Given the description of an element on the screen output the (x, y) to click on. 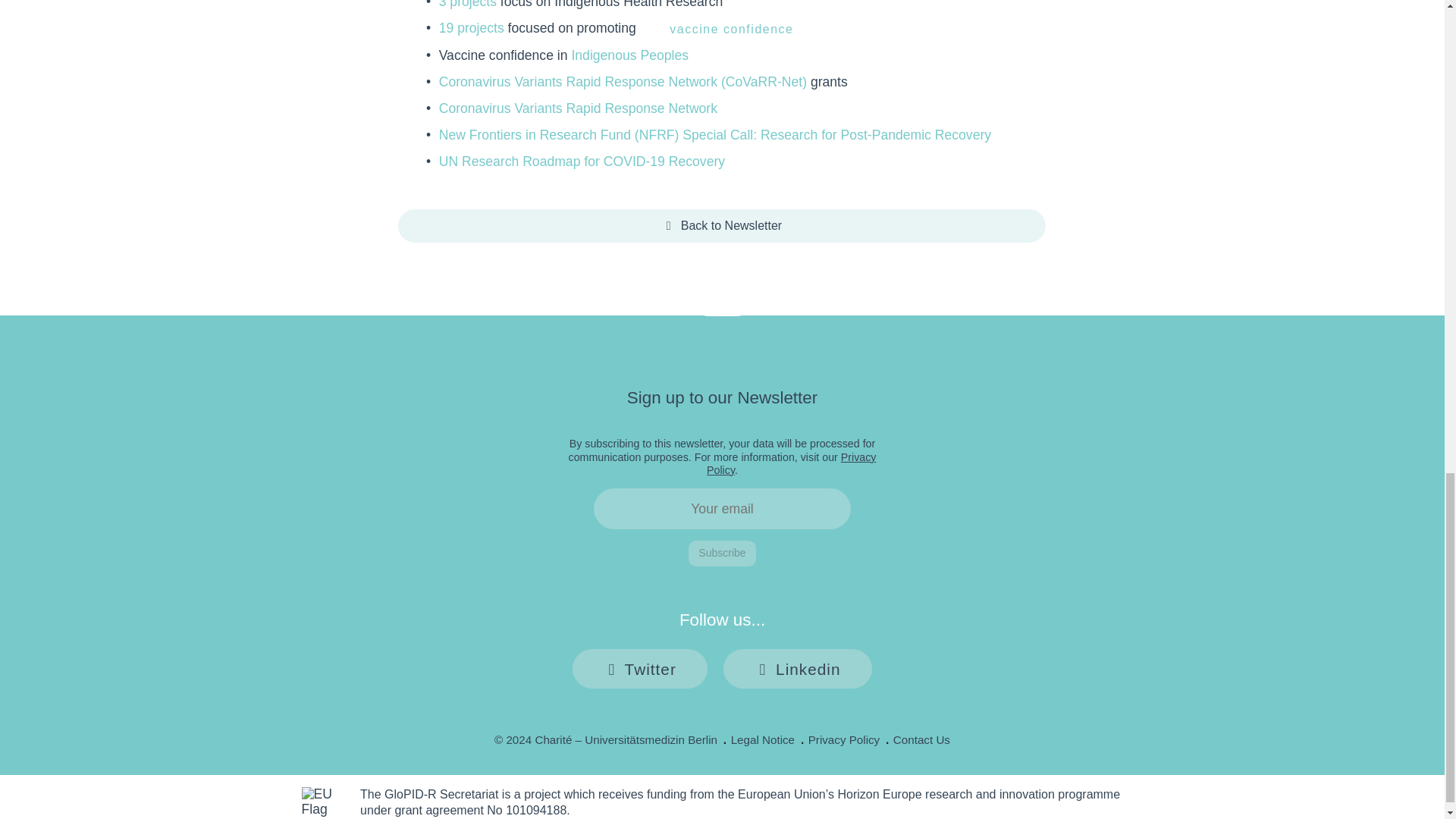
Coronavirus Variants Rapid Response Network (578, 108)
19 projects (471, 28)
vaccine confidence (732, 29)
Privacy Policy (844, 739)
Legal Notice (762, 739)
Privacy Policy (791, 463)
3 projects (467, 4)
Contact Us (921, 739)
Subscribe (721, 553)
Indigenous Peoples (629, 55)
UN Research Roadmap for COVID-19 Recovery (582, 160)
Subscribe (721, 553)
